Given the description of an element on the screen output the (x, y) to click on. 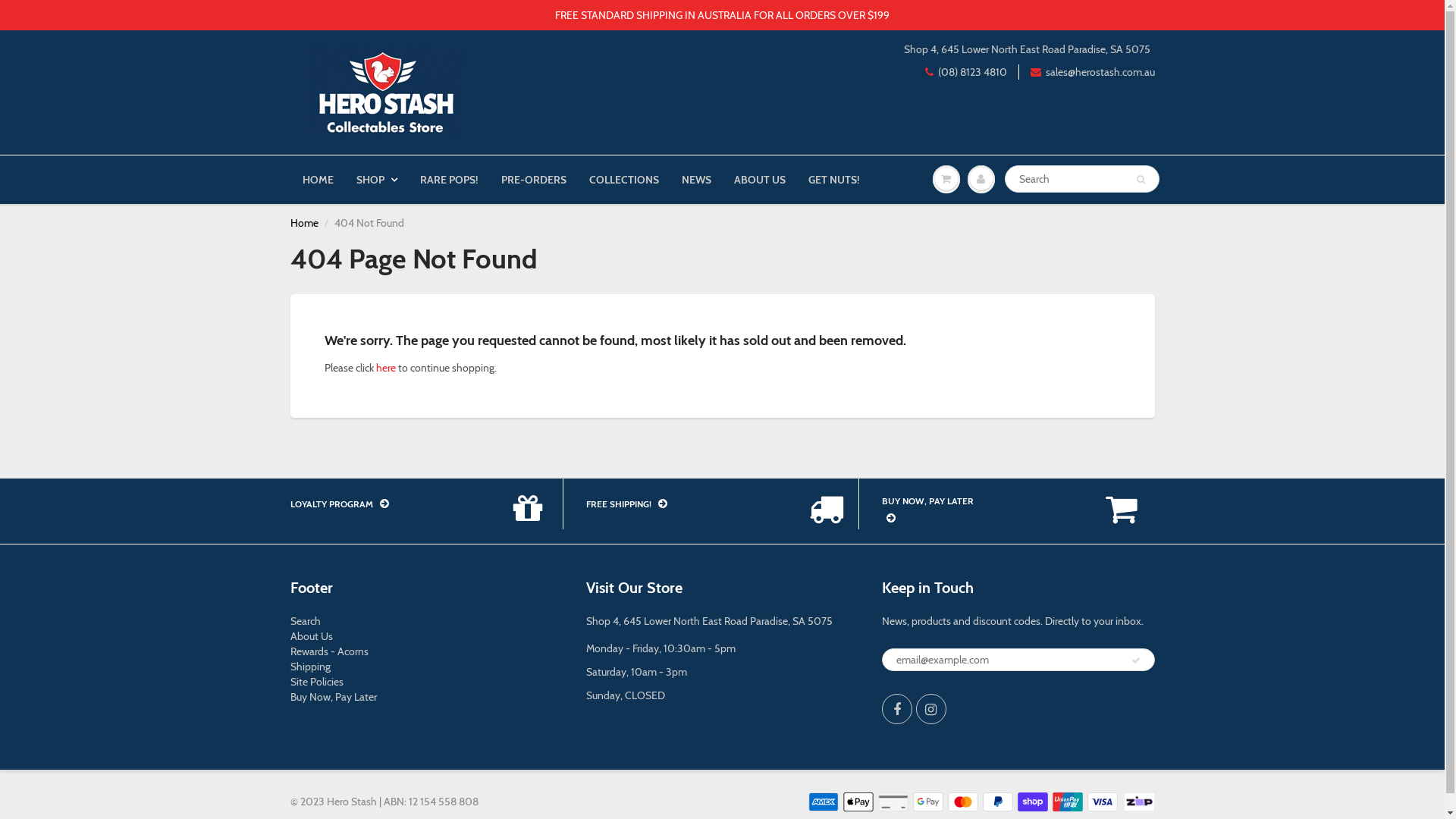
Rewards - Acorns Element type: text (328, 651)
(08) 8123 4810 Element type: text (966, 71)
Shipping Element type: text (309, 666)
Subscribe Element type: text (1134, 660)
sales@herostash.com.au Element type: text (1091, 71)
Buy Now, Pay Later Element type: text (332, 696)
GET NUTS! Element type: text (833, 179)
Site Policies Element type: text (315, 681)
NEWS Element type: text (696, 179)
BUY NOW, PAY LATER Element type: text (994, 510)
SHOP Element type: text (375, 179)
Search Element type: text (304, 620)
FREE SHIPPING! Element type: text (698, 503)
ABOUT US Element type: text (758, 179)
RARE POPS! Element type: text (448, 179)
HOME Element type: text (318, 179)
PRE-ORDERS Element type: text (533, 179)
About Us Element type: text (310, 636)
Home Element type: text (303, 222)
COLLECTIONS Element type: text (623, 179)
Instagram Element type: hover (931, 708)
Search Element type: text (1140, 179)
LOYALTY PROGRAM Element type: text (402, 503)
here Element type: text (385, 367)
Facebook Element type: hover (896, 708)
